Given the description of an element on the screen output the (x, y) to click on. 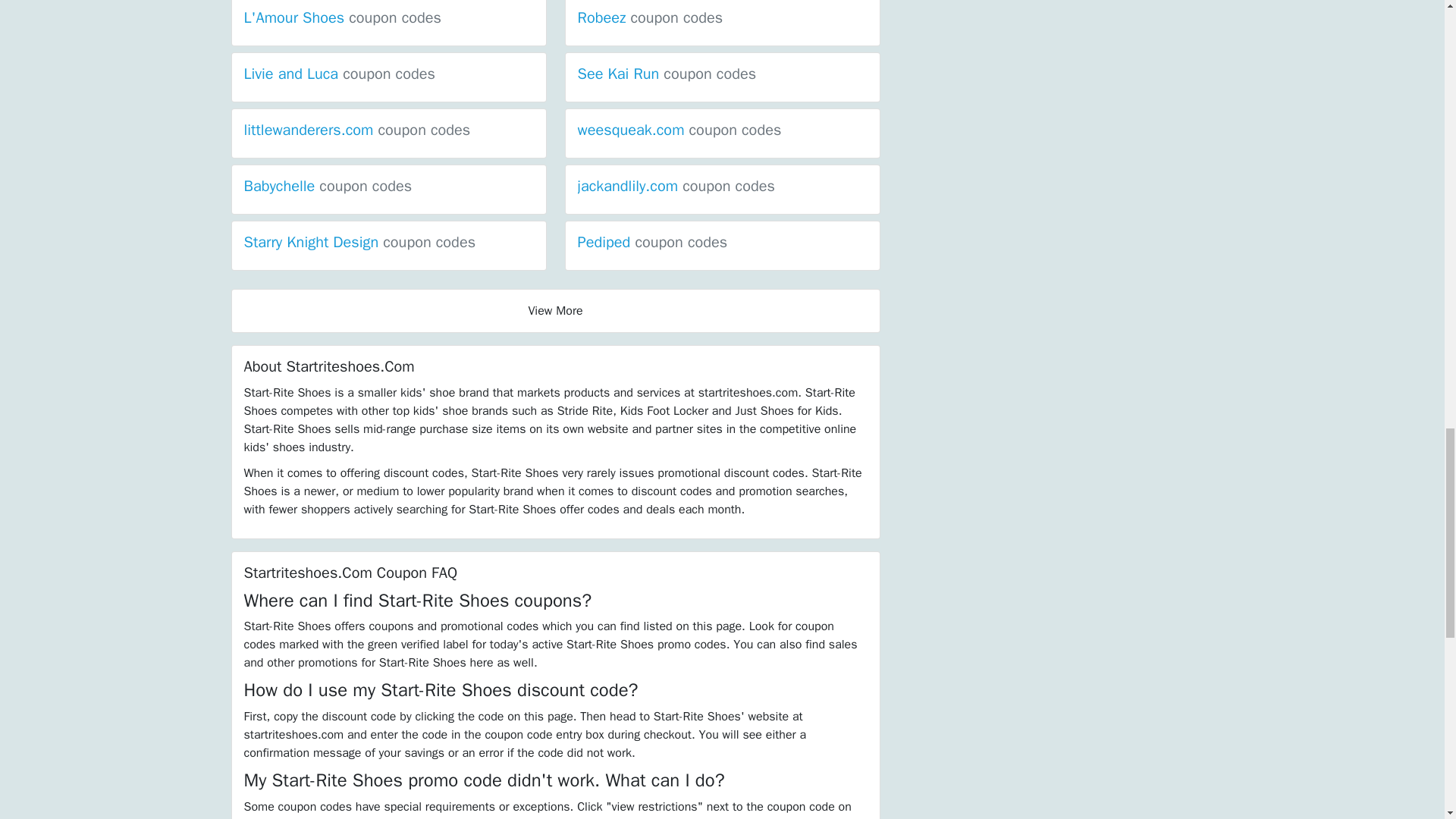
Starry Knight Design coupon codes (360, 241)
Starry Knight Design coupon codes (360, 241)
weesqueak.com coupon codes (679, 129)
Robeez coupon codes (650, 17)
littlewanderers.com coupon codes (357, 129)
See Kai Run coupon codes (667, 73)
jackandlily.com coupon codes (676, 185)
Livie and Luca coupon codes (339, 73)
Robeez coupon codes (650, 17)
L'Amour Shoes coupon codes (342, 17)
